Given the description of an element on the screen output the (x, y) to click on. 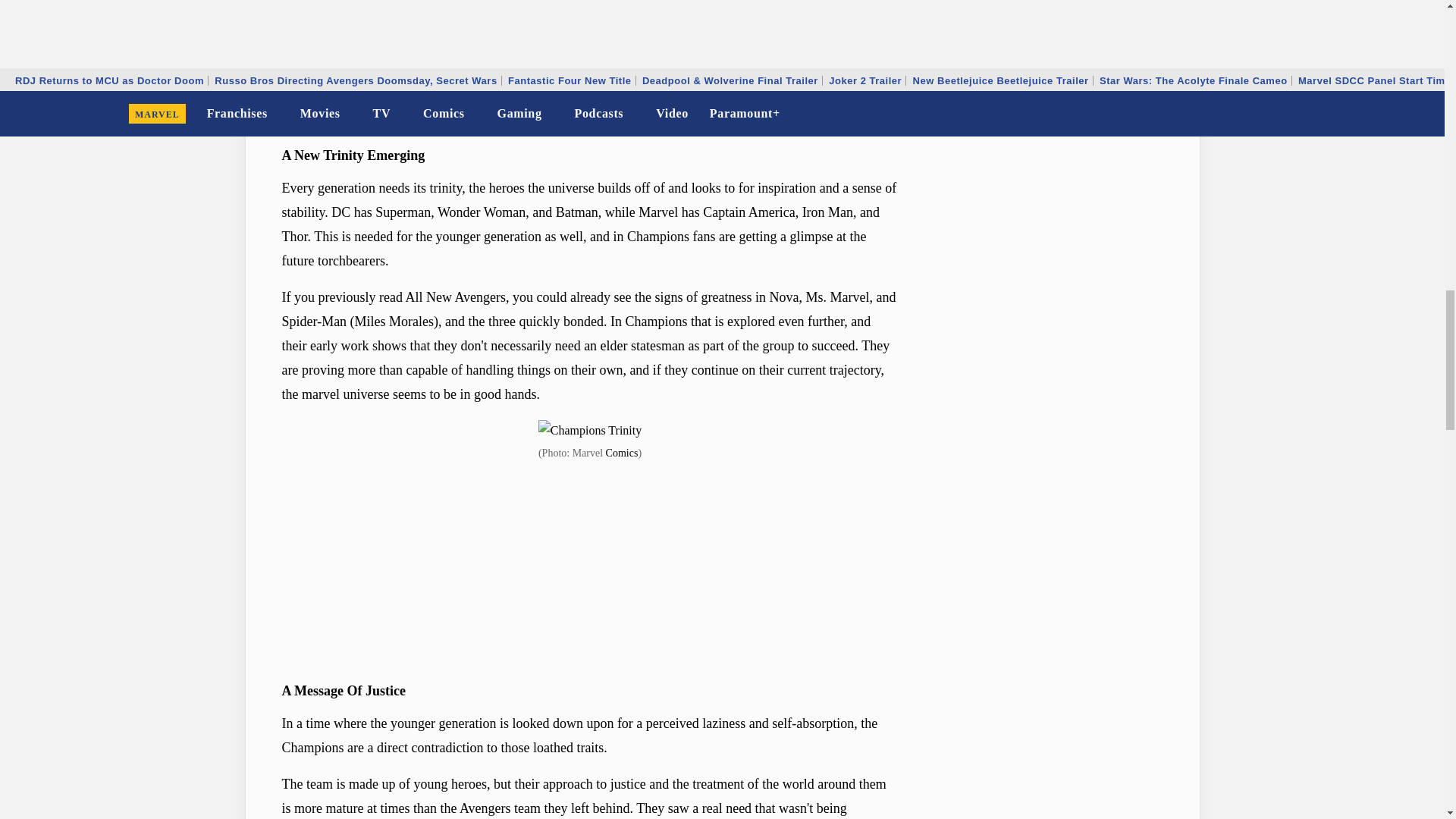
Champions Trinity (590, 430)
